Given the description of an element on the screen output the (x, y) to click on. 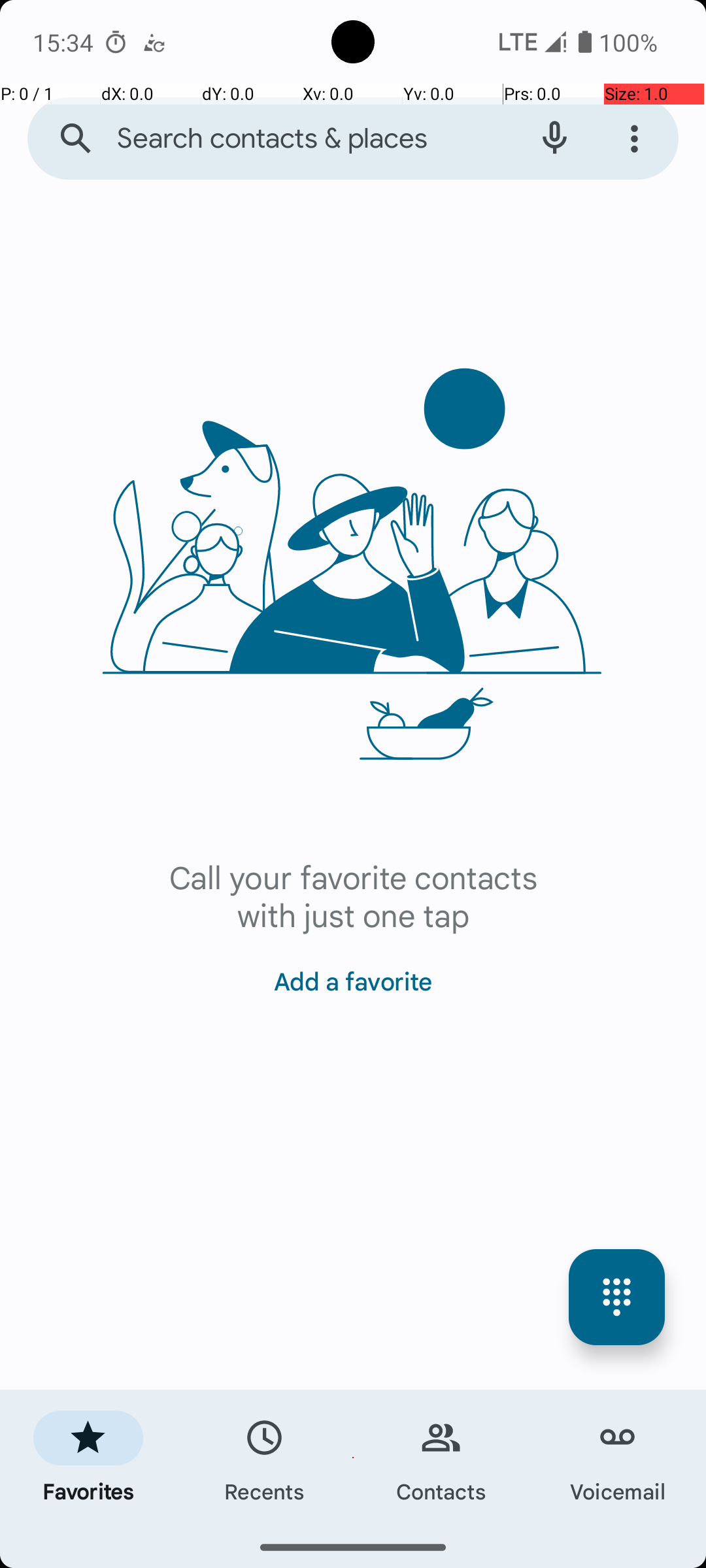
Call your favorite contacts with just one tap Element type: android.widget.TextView (352, 895)
Add a favorite Element type: android.widget.TextView (353, 973)
key pad Element type: android.widget.ImageButton (616, 1297)
Voicemail Element type: android.widget.FrameLayout (617, 1457)
